Given the description of an element on the screen output the (x, y) to click on. 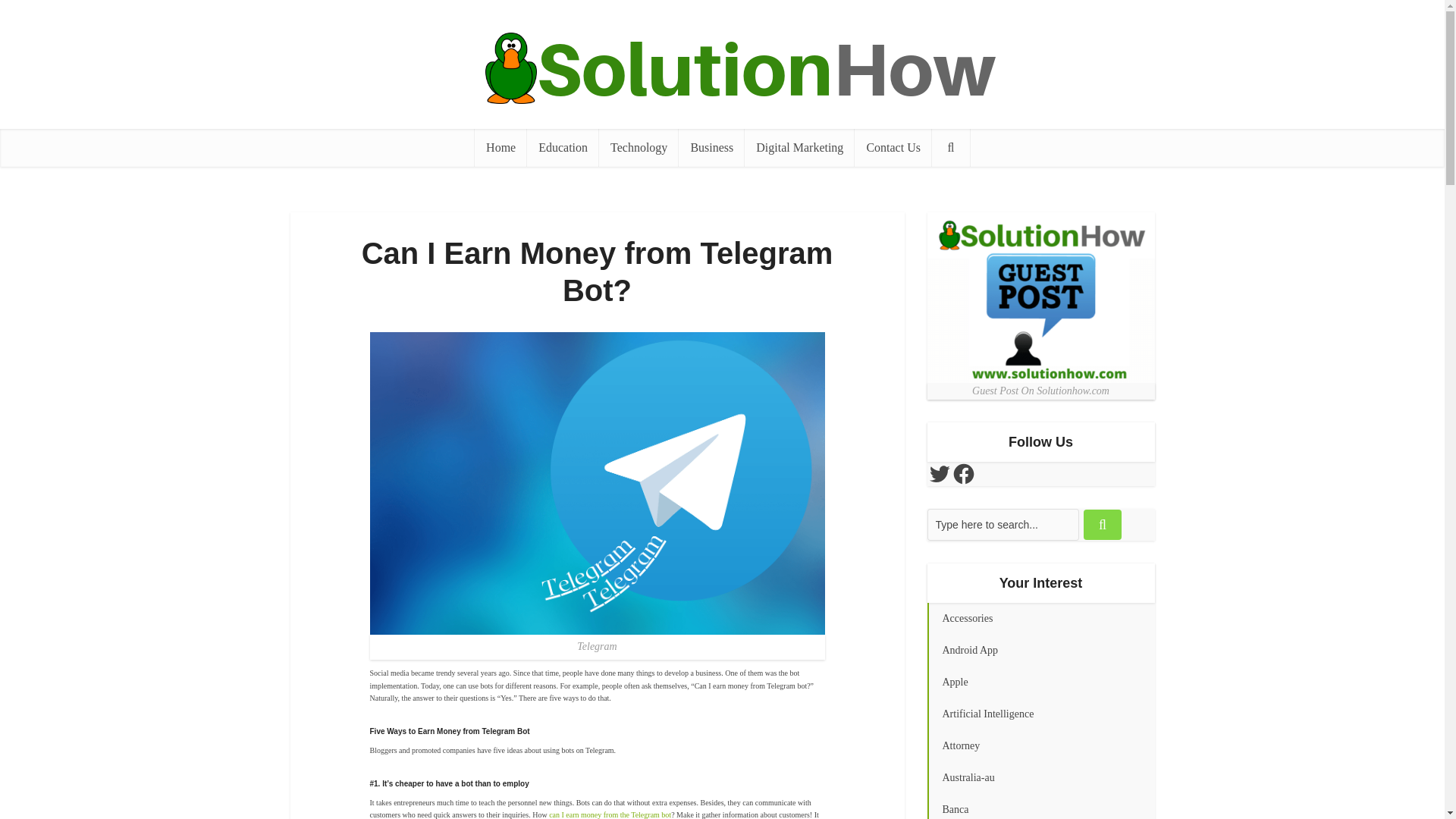
Android App (1040, 650)
SolutionHow (721, 68)
Contact Us (892, 147)
Attorney (1040, 746)
Twitter (938, 473)
Artificial Intelligence (1040, 714)
Business (711, 147)
can I earn money from the Telegram bot (609, 814)
Education (562, 147)
Type here to search... (1002, 524)
Type here to search... (1002, 524)
Digital Marketing (799, 147)
Australia-au (1040, 777)
Banca (1040, 806)
Technology (638, 147)
